Given the description of an element on the screen output the (x, y) to click on. 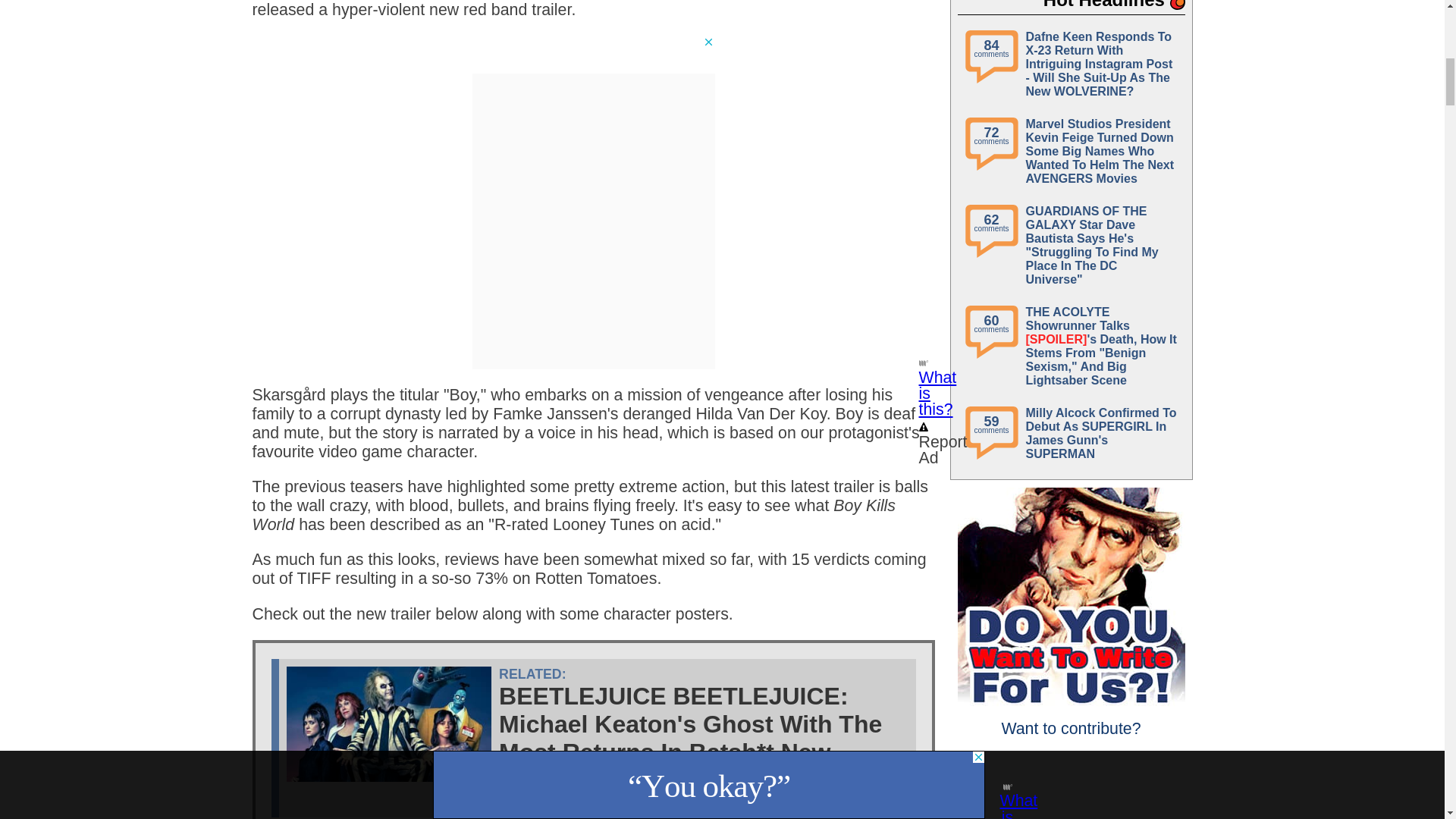
3rd party ad content (592, 54)
